Given the description of an element on the screen output the (x, y) to click on. 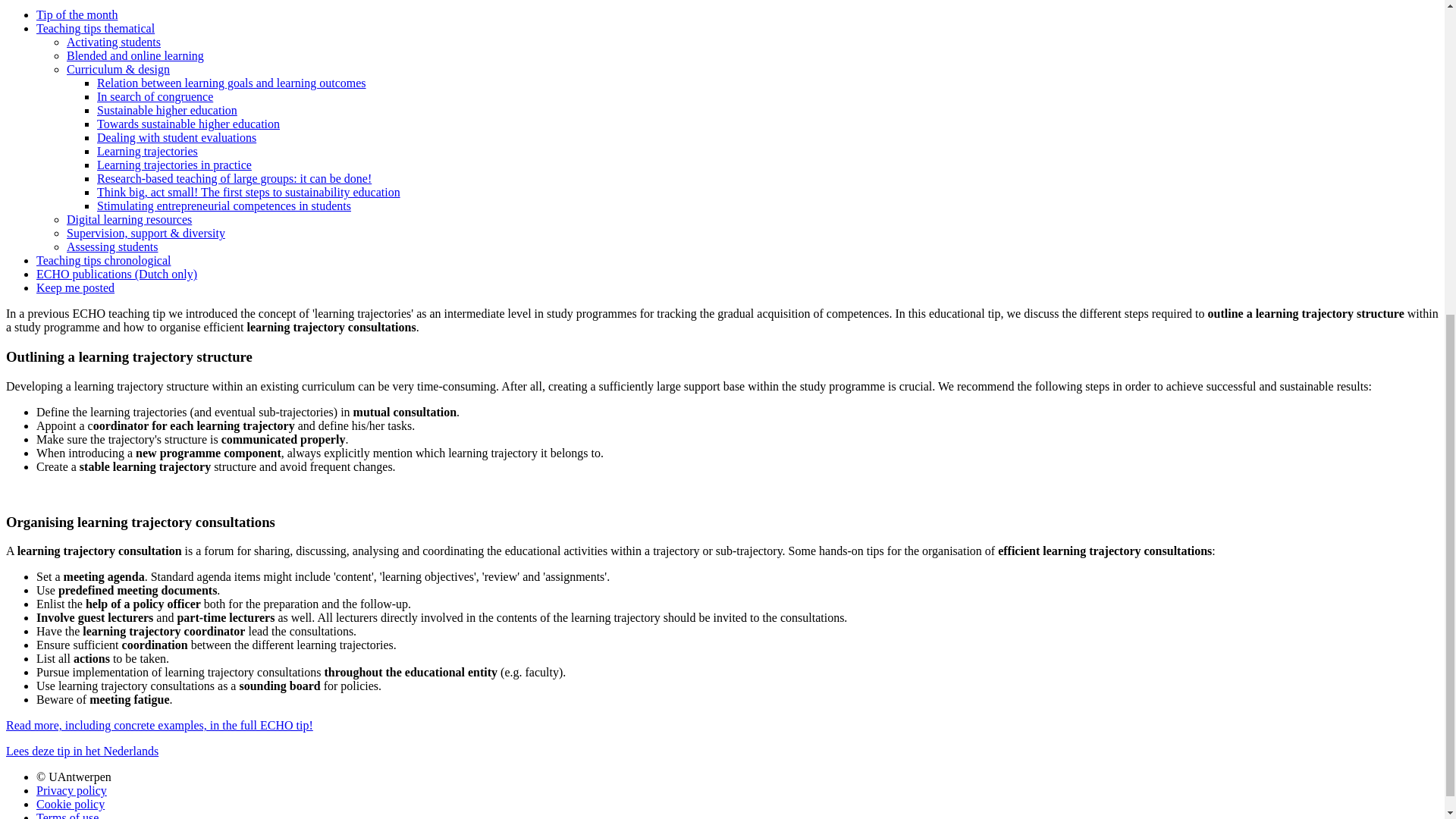
In search of congruence (154, 96)
Sustainable higher education (167, 110)
Learning trajectories in practice (174, 164)
Teaching tips thematical (95, 28)
Blended and online learning (134, 55)
Digital learning resources (129, 219)
Dealing with student evaluations (176, 137)
Stimulating entrepreneurial competences in students (223, 205)
Learning trajectories (147, 151)
Relation between learning goals and learning outcomes (231, 82)
Research-based teaching of large groups: it can be done! (234, 178)
Tip of the month (76, 14)
Towards sustainable higher education (188, 123)
Activating students (113, 42)
